Given the description of an element on the screen output the (x, y) to click on. 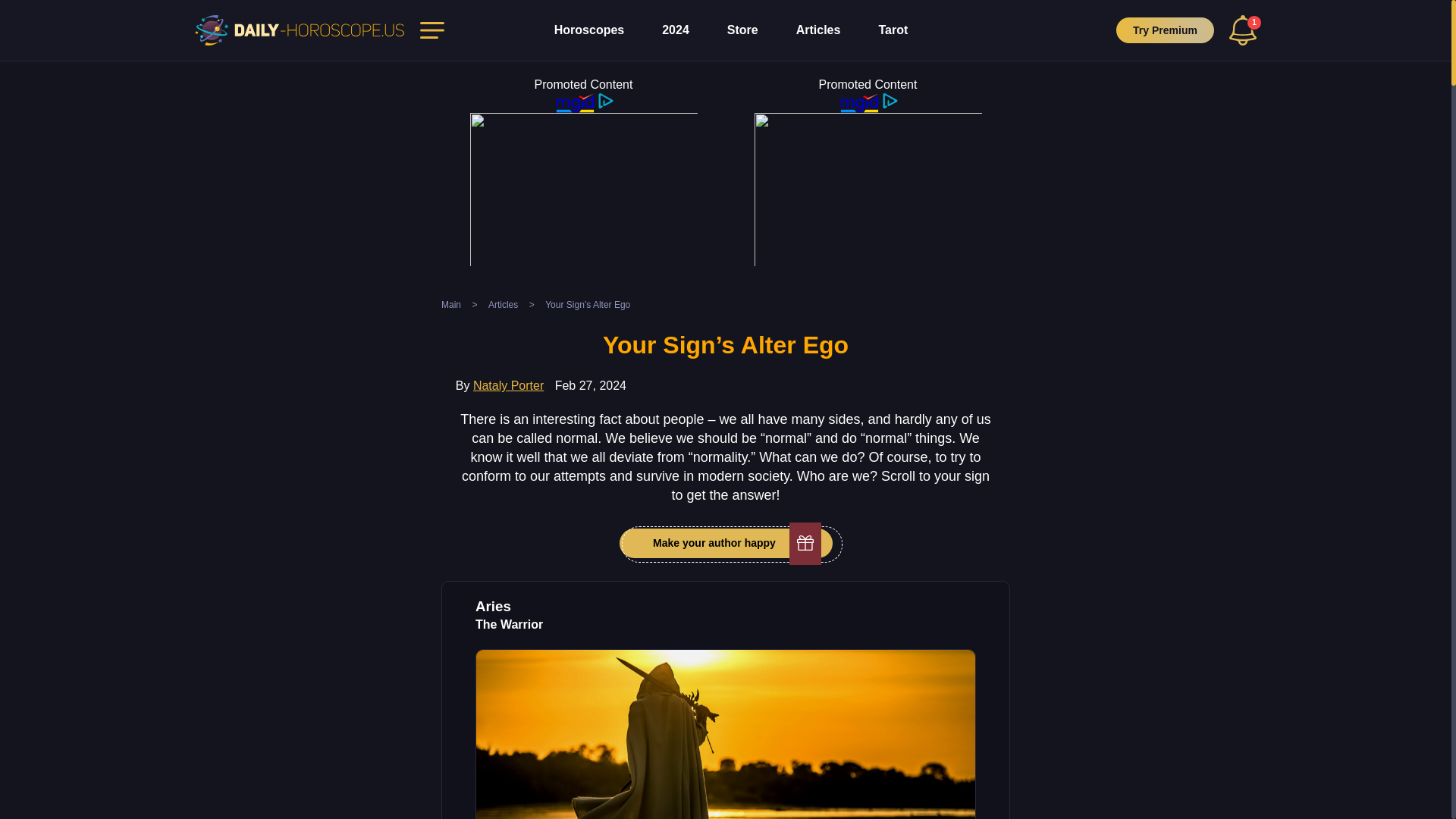
1 (1242, 30)
Try Premium (1165, 30)
Store (742, 30)
Daily-Horoscope (299, 30)
Articles (818, 30)
Tarot (892, 30)
2024 (675, 30)
Horoscopes (589, 30)
